Given the description of an element on the screen output the (x, y) to click on. 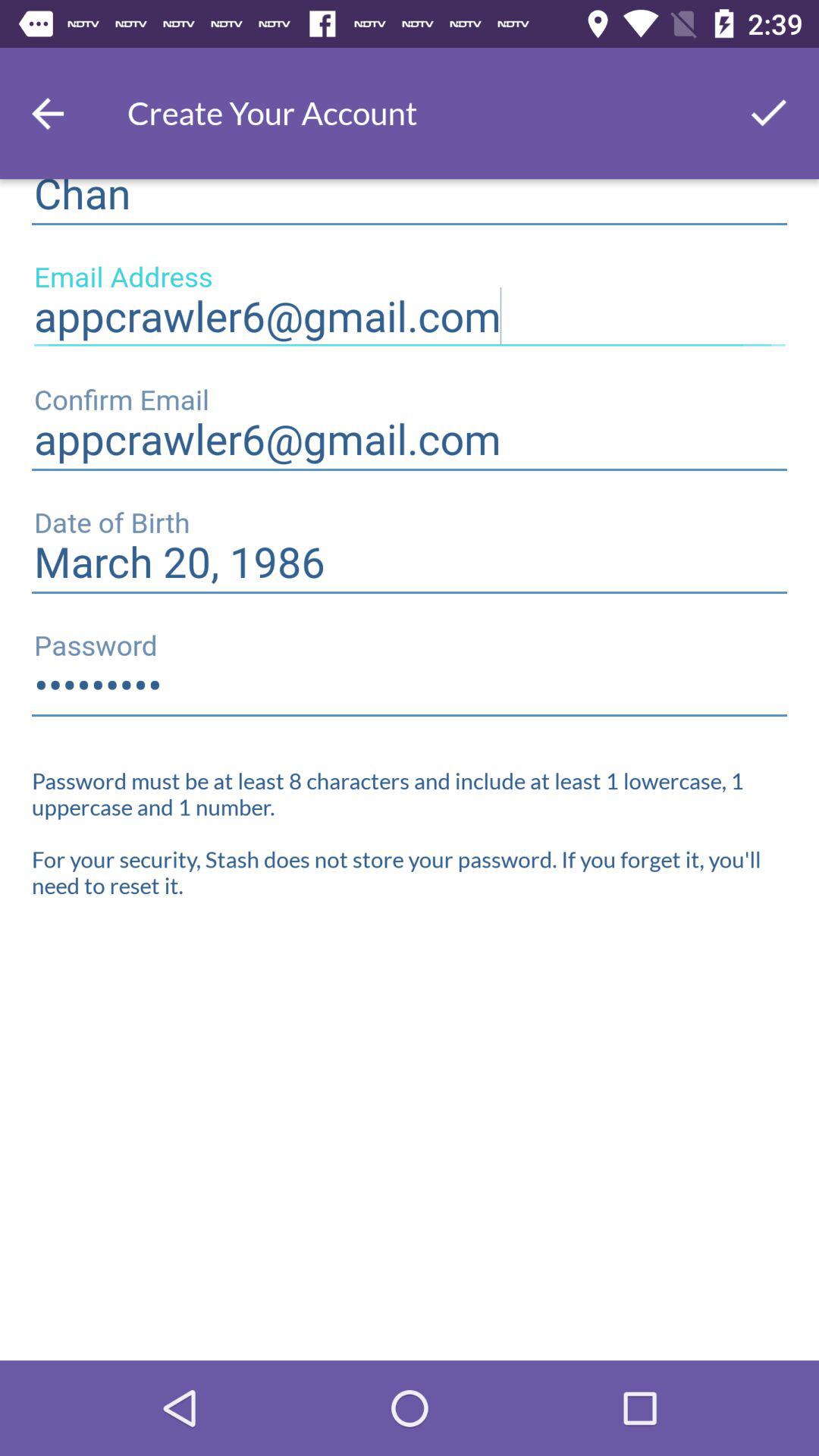
save and continue (769, 113)
